Given the description of an element on the screen output the (x, y) to click on. 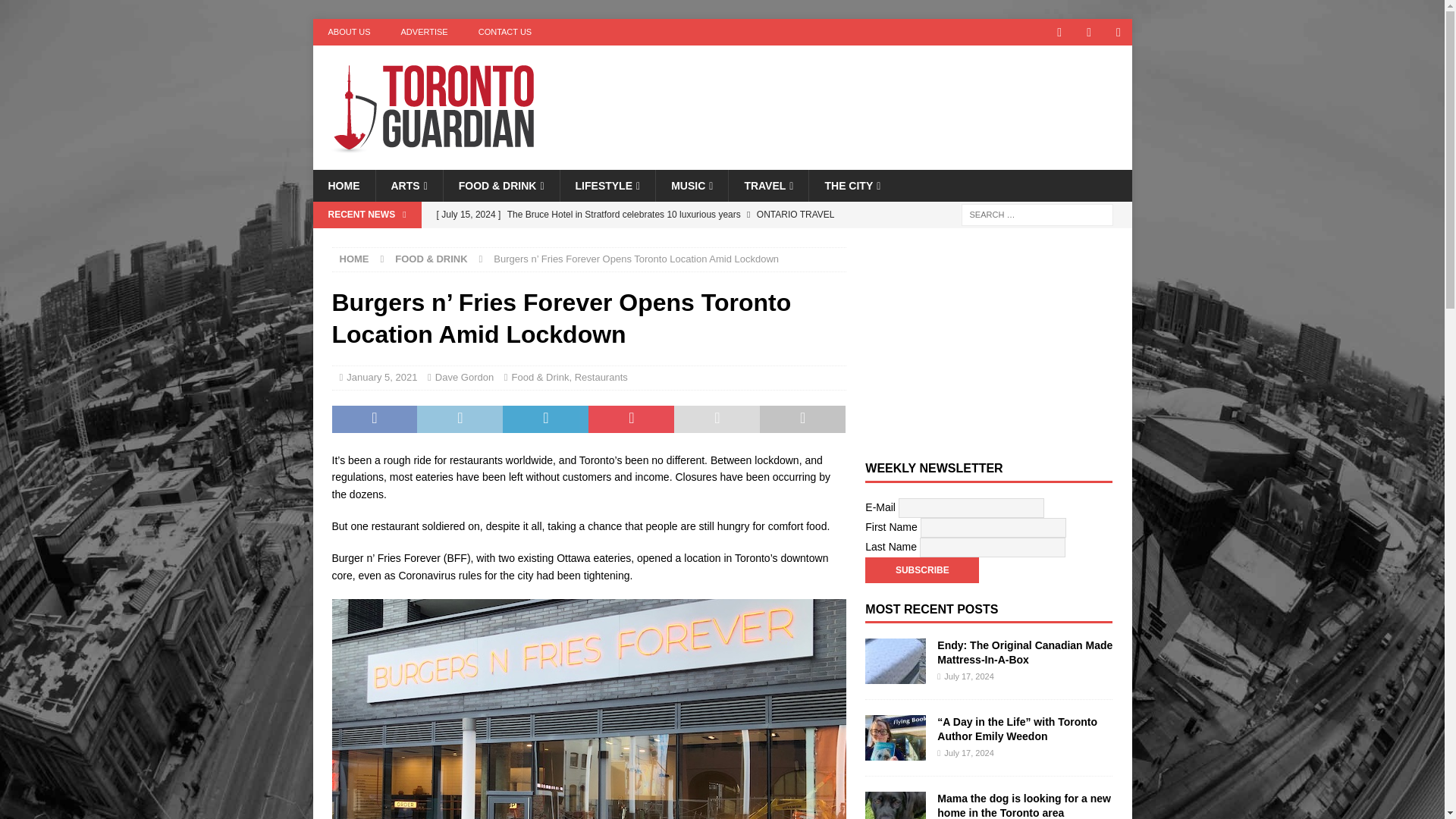
Subscribe (921, 570)
The Bruce Hotel in Stratford celebrates 10 luxurious years (636, 214)
ABOUT US (349, 31)
Advertisement (868, 94)
ADVERTISE (424, 31)
CONTACT US (505, 31)
Homegrown Business: Amir Bahar of Pink Martini Collection (636, 240)
